Given the description of an element on the screen output the (x, y) to click on. 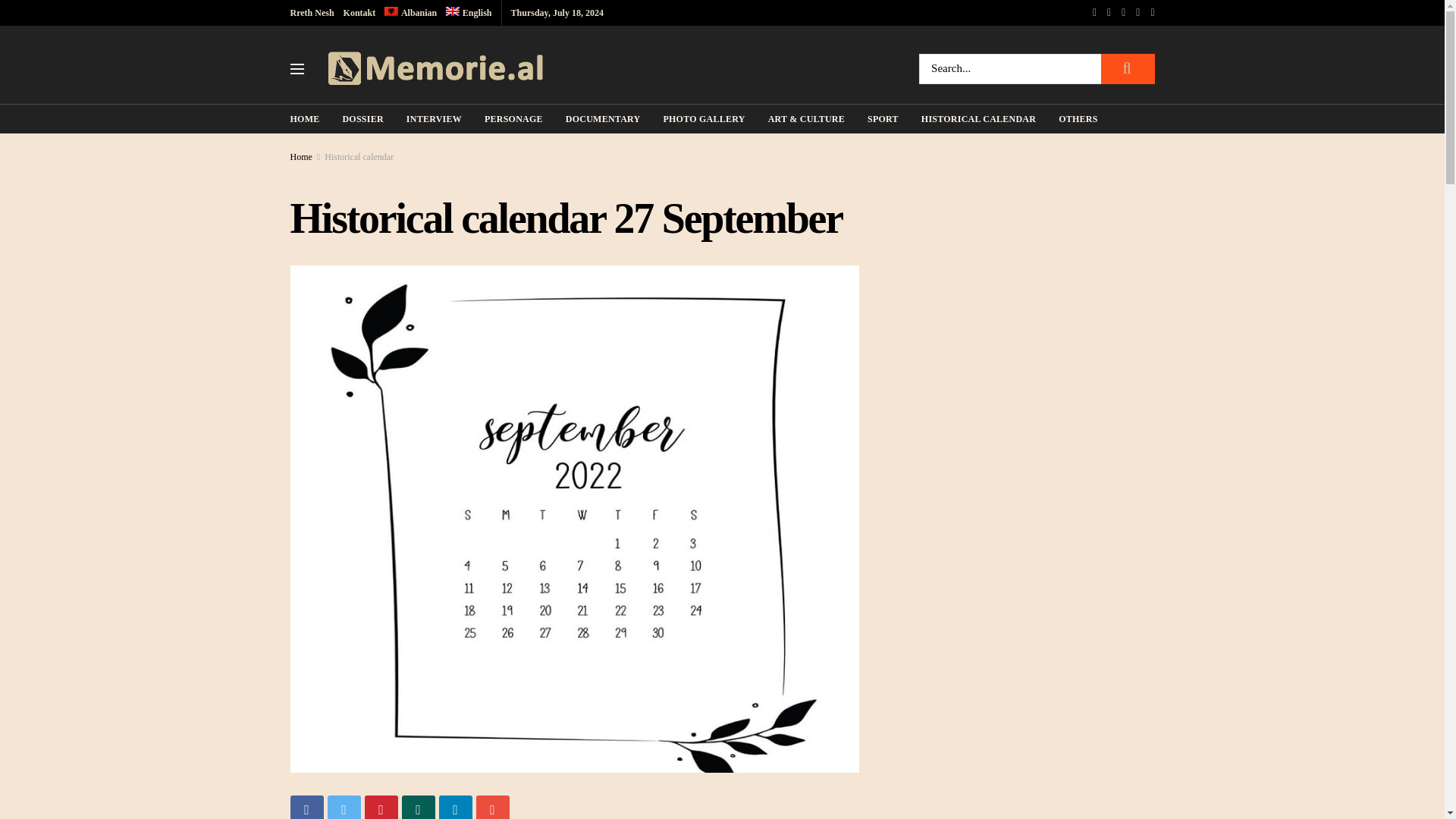
Rreth Nesh (311, 12)
SPORT (882, 118)
PERSONAGE (513, 118)
PHOTO GALLERY (703, 118)
Home (300, 156)
English (468, 12)
OTHERS (1077, 118)
Albanian (410, 12)
DOSSIER (362, 118)
Albanian (410, 12)
Kontakt (359, 12)
HISTORICAL CALENDAR (978, 118)
HOME (303, 118)
English (468, 12)
DOCUMENTARY (603, 118)
